Given the description of an element on the screen output the (x, y) to click on. 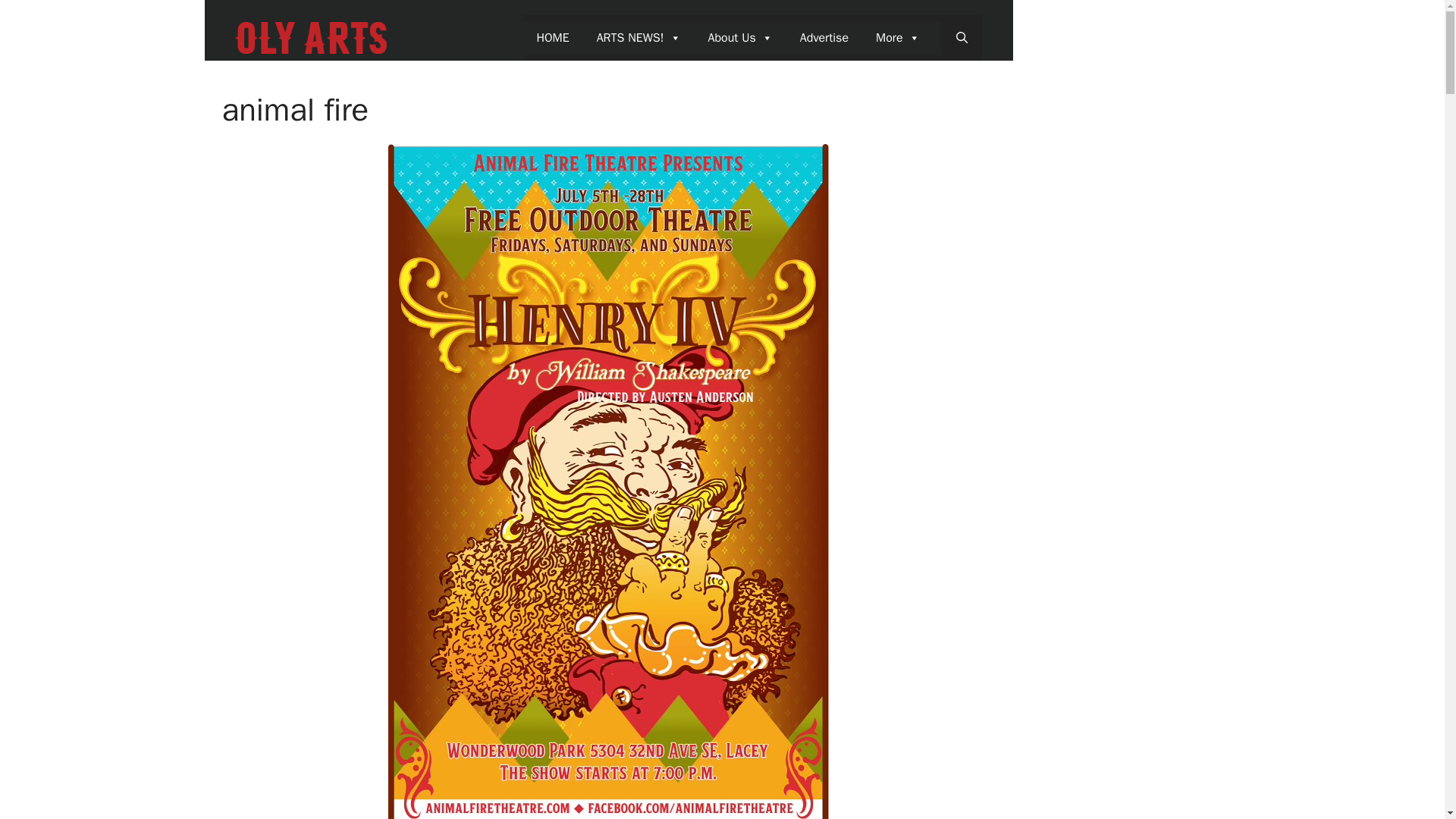
HOME (551, 38)
Advertise (824, 38)
ARTS NEWS! (638, 38)
More (897, 38)
About Us (740, 38)
